Given the description of an element on the screen output the (x, y) to click on. 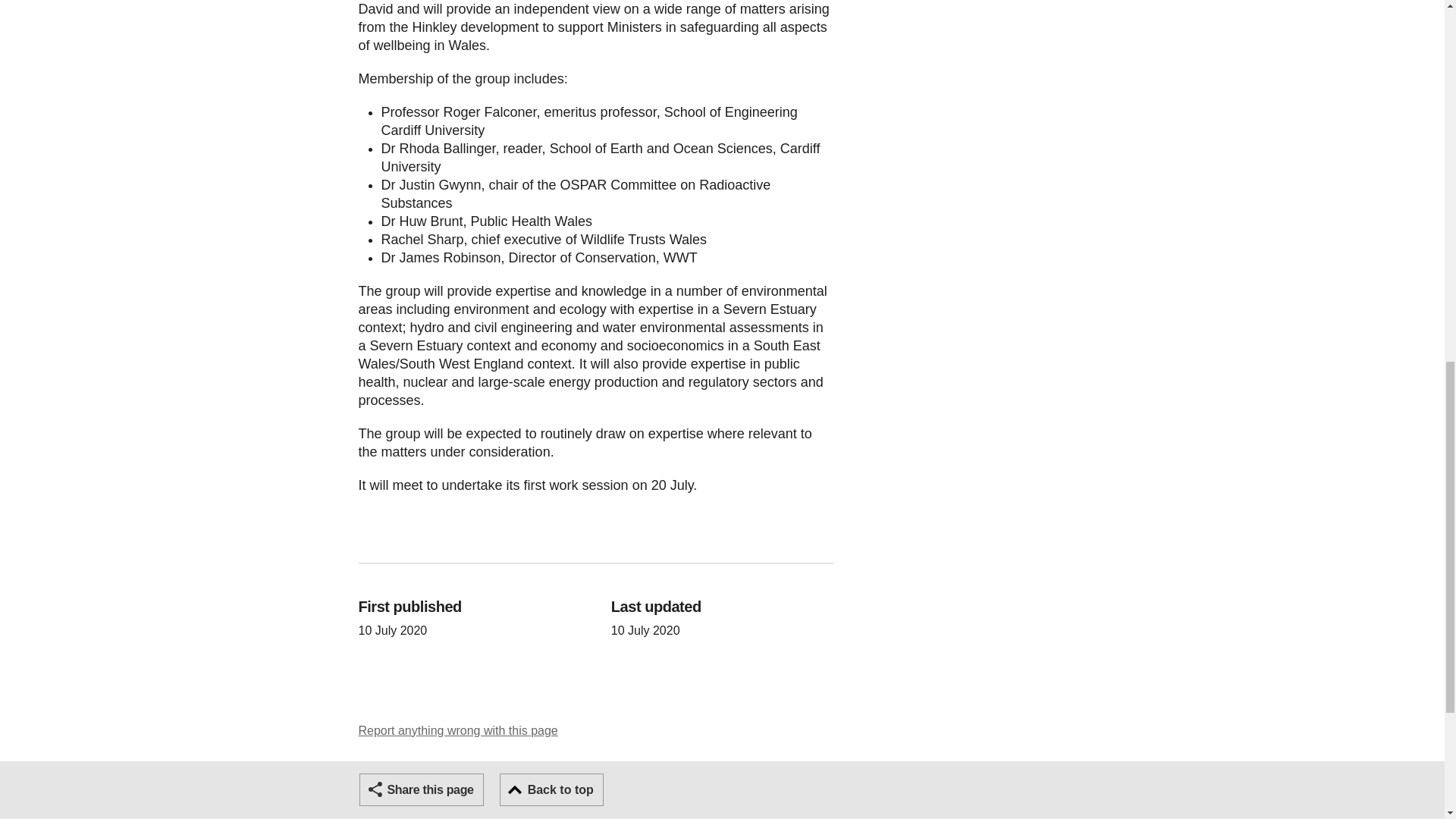
Back to top (551, 789)
Report anything wrong with this page (457, 730)
Share this page (421, 789)
